Given the description of an element on the screen output the (x, y) to click on. 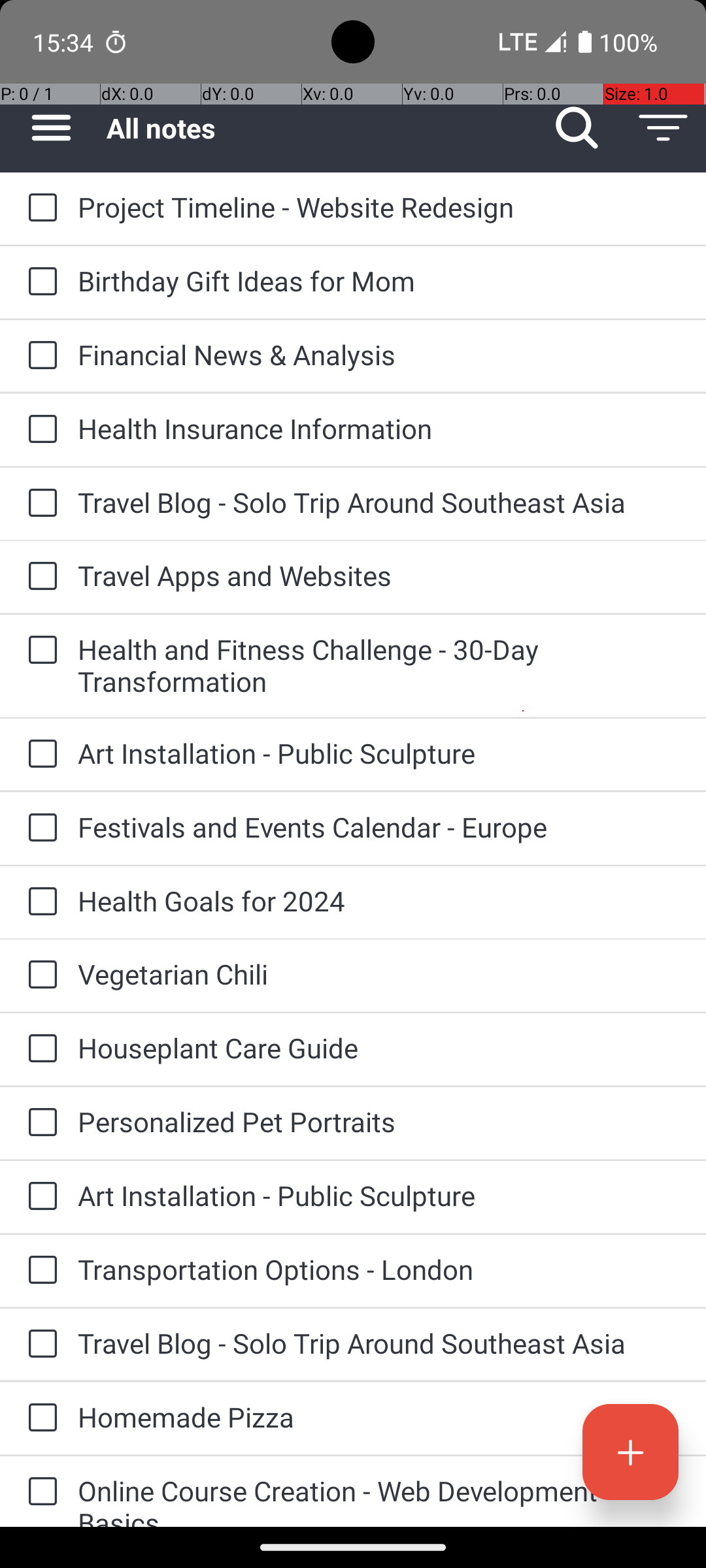
to-do: Project Timeline - Website Redesign Element type: android.widget.CheckBox (38, 208)
Project Timeline - Website Redesign Element type: android.widget.TextView (378, 206)
to-do: Birthday Gift Ideas for Mom Element type: android.widget.CheckBox (38, 282)
Birthday Gift Ideas for Mom Element type: android.widget.TextView (378, 280)
to-do: Financial News & Analysis Element type: android.widget.CheckBox (38, 356)
Financial News & Analysis Element type: android.widget.TextView (378, 354)
to-do: Health Insurance Information Element type: android.widget.CheckBox (38, 429)
Health Insurance Information Element type: android.widget.TextView (378, 427)
to-do: Travel Blog - Solo Trip Around Southeast Asia Element type: android.widget.CheckBox (38, 503)
Travel Blog - Solo Trip Around Southeast Asia Element type: android.widget.TextView (378, 501)
to-do: Travel Apps and Websites Element type: android.widget.CheckBox (38, 576)
Travel Apps and Websites Element type: android.widget.TextView (378, 574)
to-do: Health and Fitness Challenge - 30-Day Transformation Element type: android.widget.CheckBox (38, 650)
Health and Fitness Challenge - 30-Day Transformation Element type: android.widget.TextView (378, 664)
to-do: Art Installation - Public Sculpture Element type: android.widget.CheckBox (38, 754)
Art Installation - Public Sculpture Element type: android.widget.TextView (378, 752)
to-do: Festivals and Events Calendar - Europe Element type: android.widget.CheckBox (38, 828)
Festivals and Events Calendar - Europe Element type: android.widget.TextView (378, 826)
to-do: Health Goals for 2024 Element type: android.widget.CheckBox (38, 902)
Health Goals for 2024 Element type: android.widget.TextView (378, 900)
to-do: Vegetarian Chili Element type: android.widget.CheckBox (38, 975)
Vegetarian Chili Element type: android.widget.TextView (378, 973)
to-do: Houseplant Care Guide Element type: android.widget.CheckBox (38, 1049)
Houseplant Care Guide Element type: android.widget.TextView (378, 1047)
to-do: Personalized Pet Portraits Element type: android.widget.CheckBox (38, 1123)
Personalized Pet Portraits Element type: android.widget.TextView (378, 1121)
to-do: Transportation Options - London Element type: android.widget.CheckBox (38, 1270)
Transportation Options - London Element type: android.widget.TextView (378, 1268)
to-do: Homemade Pizza Element type: android.widget.CheckBox (38, 1418)
Homemade Pizza Element type: android.widget.TextView (378, 1416)
to-do: Online Course Creation - Web Development Basics Element type: android.widget.CheckBox (38, 1491)
Online Course Creation - Web Development Basics Element type: android.widget.TextView (378, 1498)
